Given the description of an element on the screen output the (x, y) to click on. 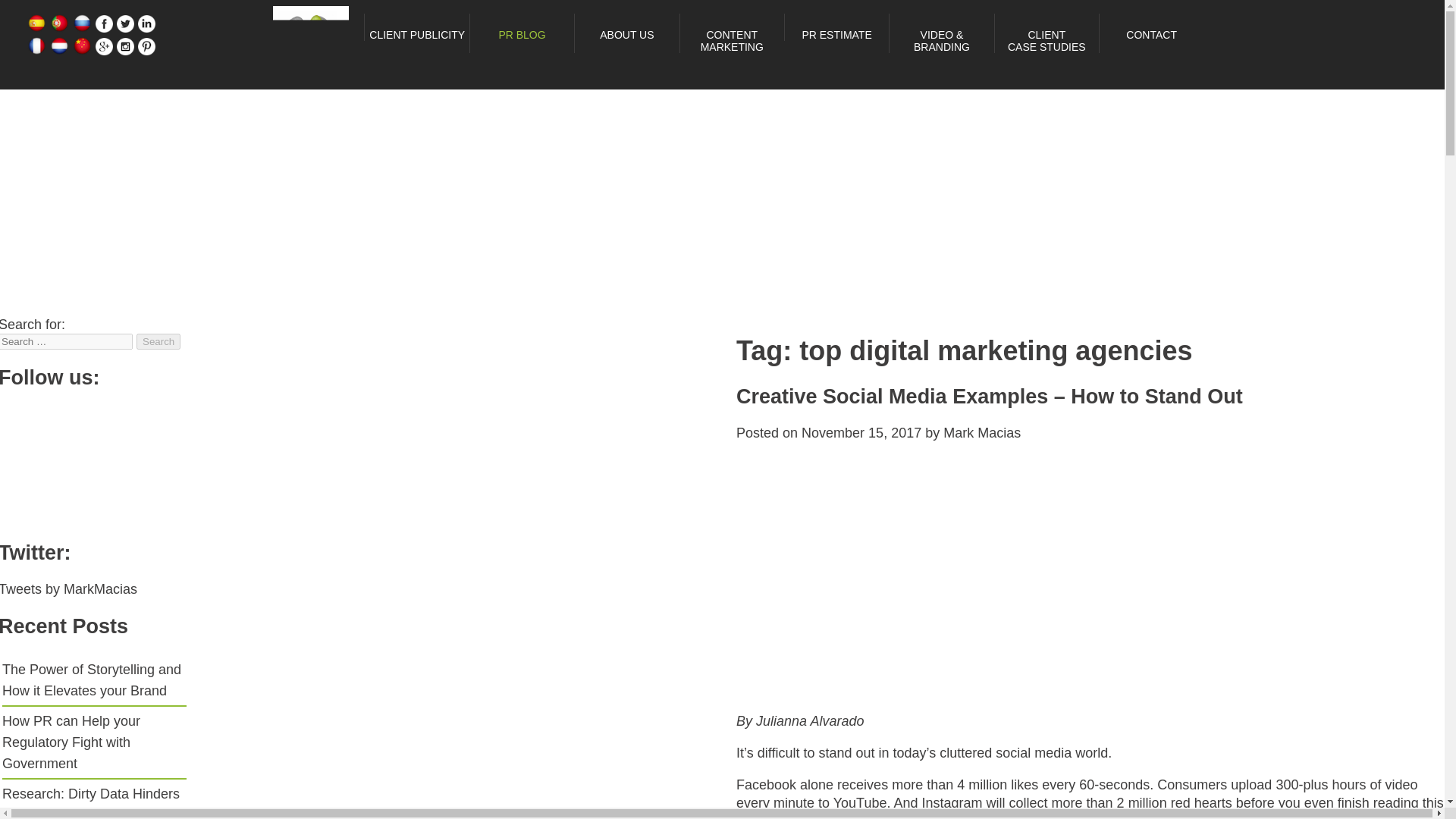
Search (158, 341)
The Power of Storytelling and How it Elevates your Brand (91, 679)
How PR can Help your Regulatory Fight with Government (70, 742)
PR BLOG (521, 34)
Research: Dirty Data Hinders AI, Impacting Enterprise and PR (90, 802)
PR ESTIMATE (1046, 40)
Search (836, 34)
CLIENT PUBLICITY (158, 341)
Search (416, 34)
